Given the description of an element on the screen output the (x, y) to click on. 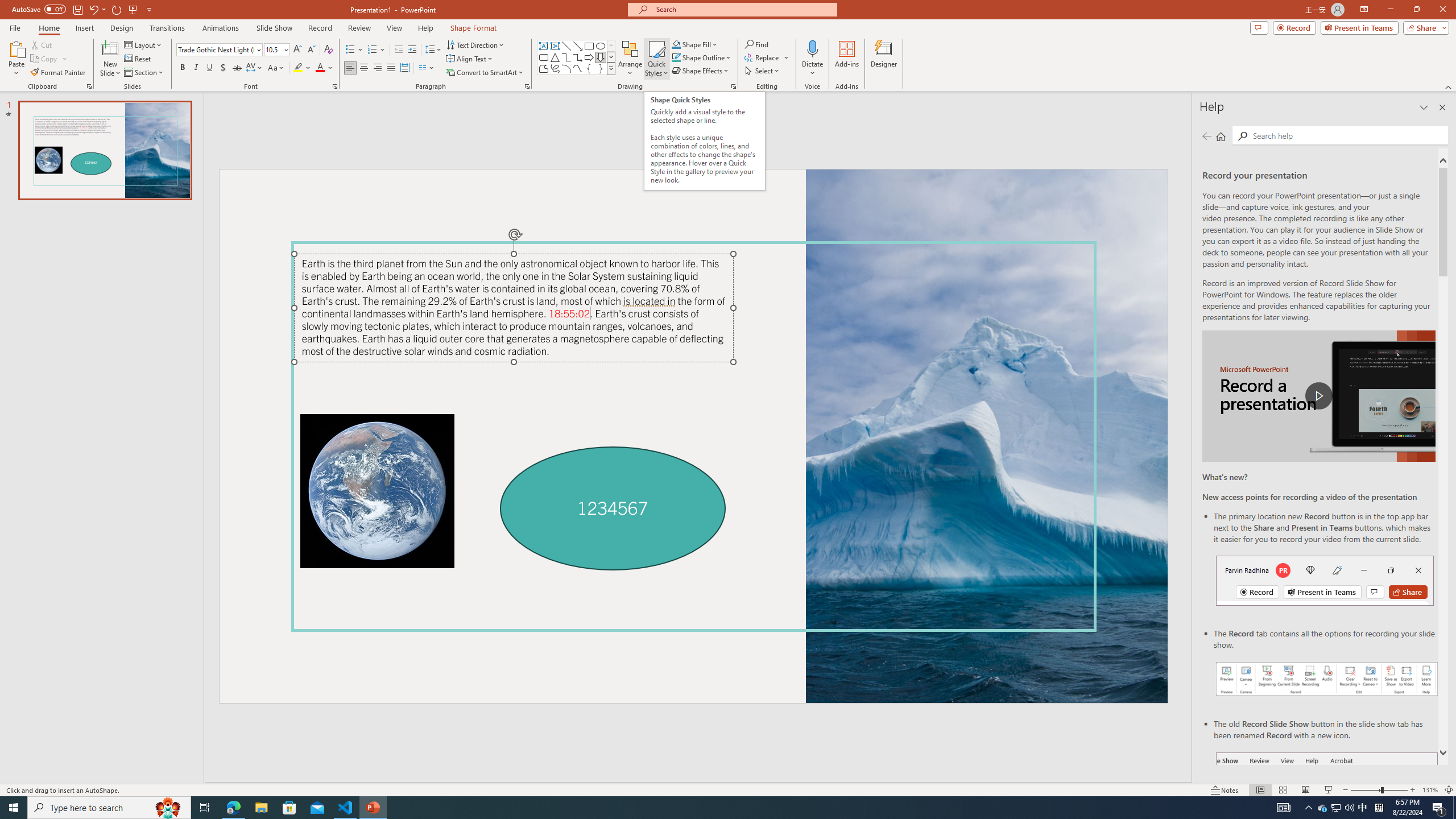
Record your presentations screenshot one (1326, 678)
Justify (390, 67)
Line Spacing (433, 49)
Decrease Font Size (310, 49)
Text Box (543, 45)
Isosceles Triangle (554, 57)
Align Right (377, 67)
Font... (334, 85)
Shadow (223, 67)
Arrow: Right (589, 57)
